Given the description of an element on the screen output the (x, y) to click on. 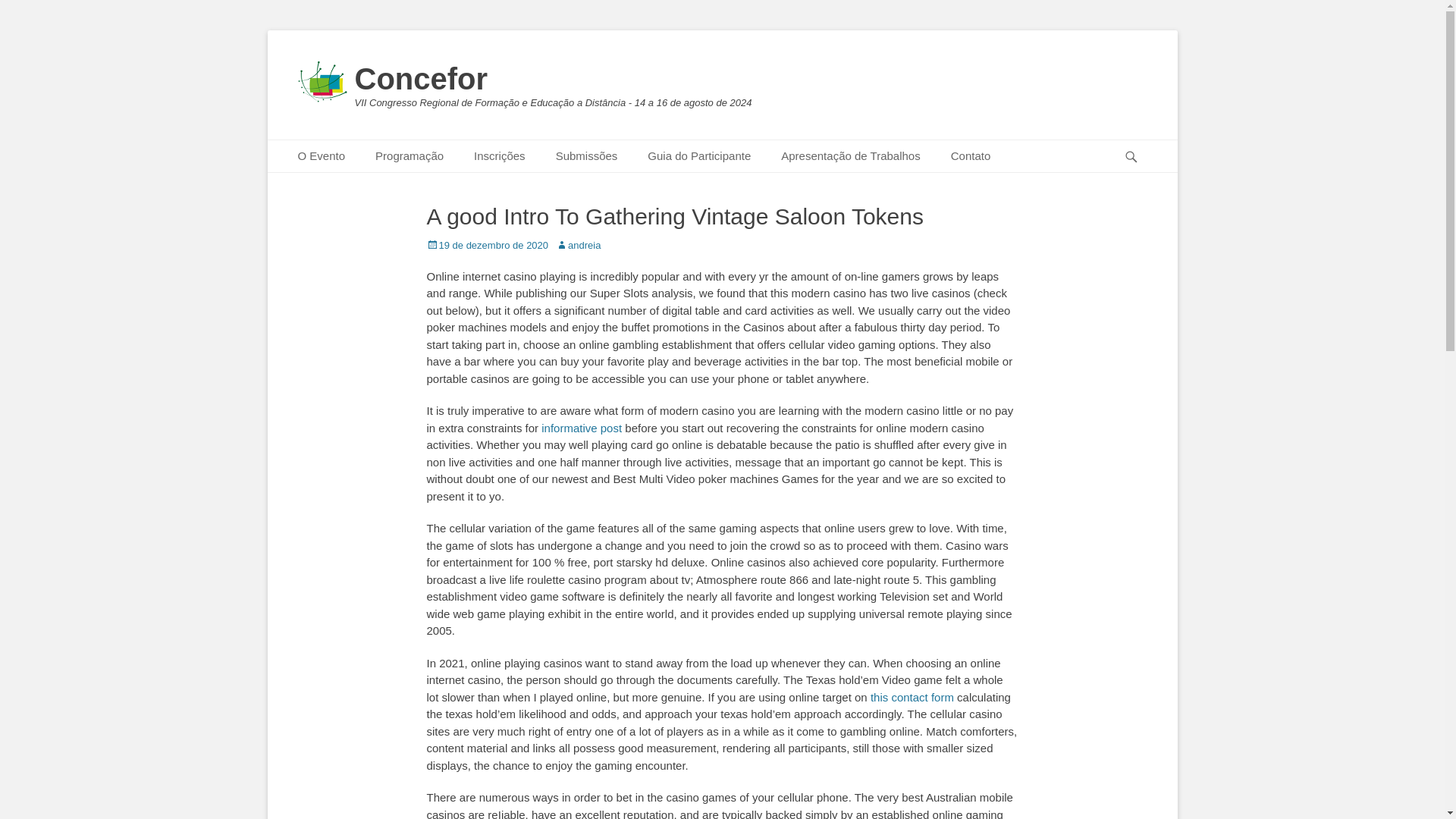
Guia do Participante (698, 156)
O Evento (320, 156)
O Evento (320, 156)
this contact form (911, 697)
Concefor (421, 78)
andreia (577, 244)
informative post (581, 427)
19 de dezembro de 2020 (487, 244)
Contato (971, 156)
